Given the description of an element on the screen output the (x, y) to click on. 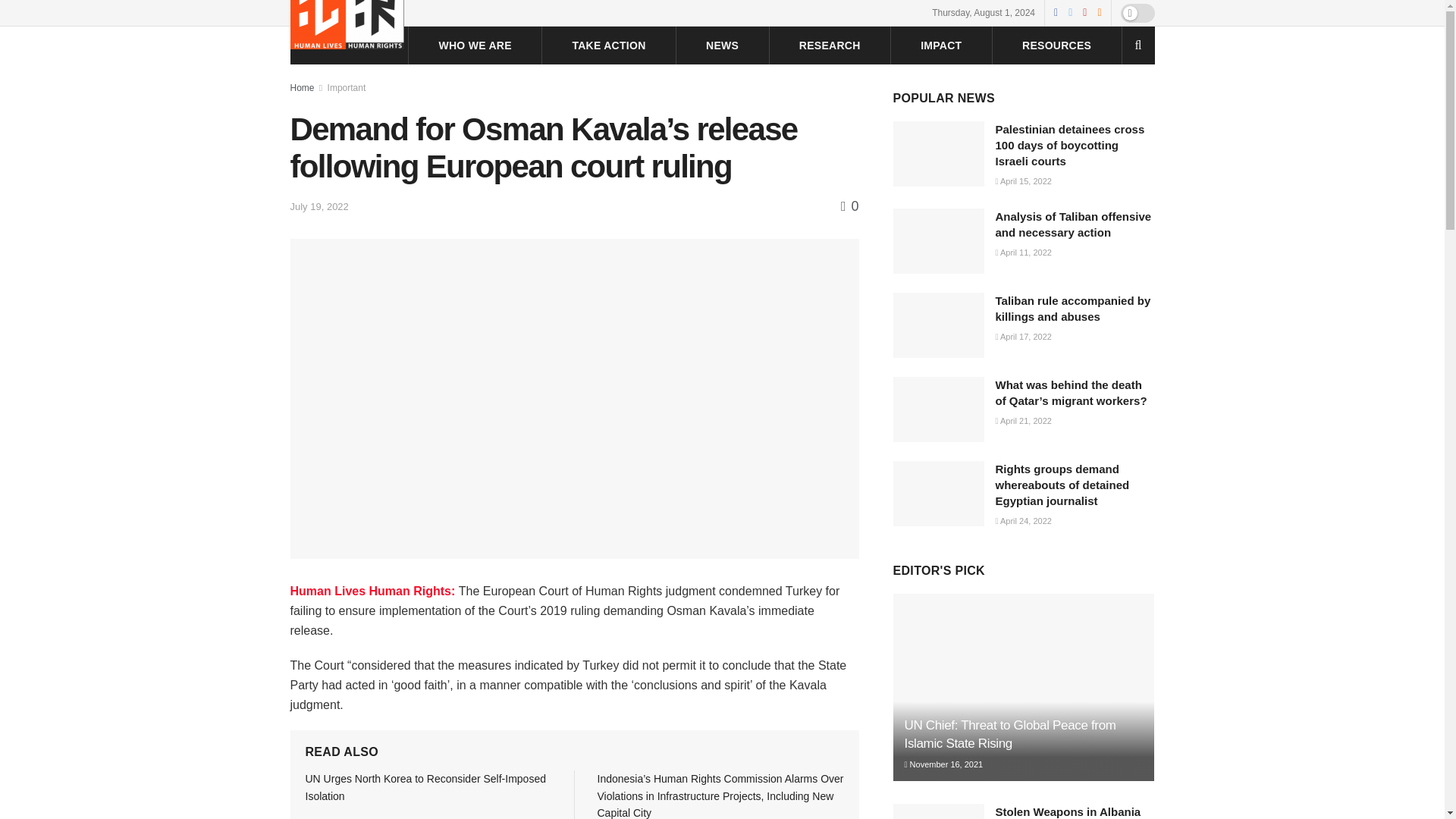
TAKE ACTION (608, 45)
IMPACT (940, 45)
RESOURCES (1056, 45)
Human Lives Human Rights: (373, 590)
HOME (362, 45)
RESEARCH (829, 45)
0 (850, 206)
July 19, 2022 (318, 206)
UN Urges North Korea to Reconsider Self-Imposed Isolation (424, 787)
Home (301, 87)
NEWS (722, 45)
Important (346, 87)
WHO WE ARE (474, 45)
